Given the description of an element on the screen output the (x, y) to click on. 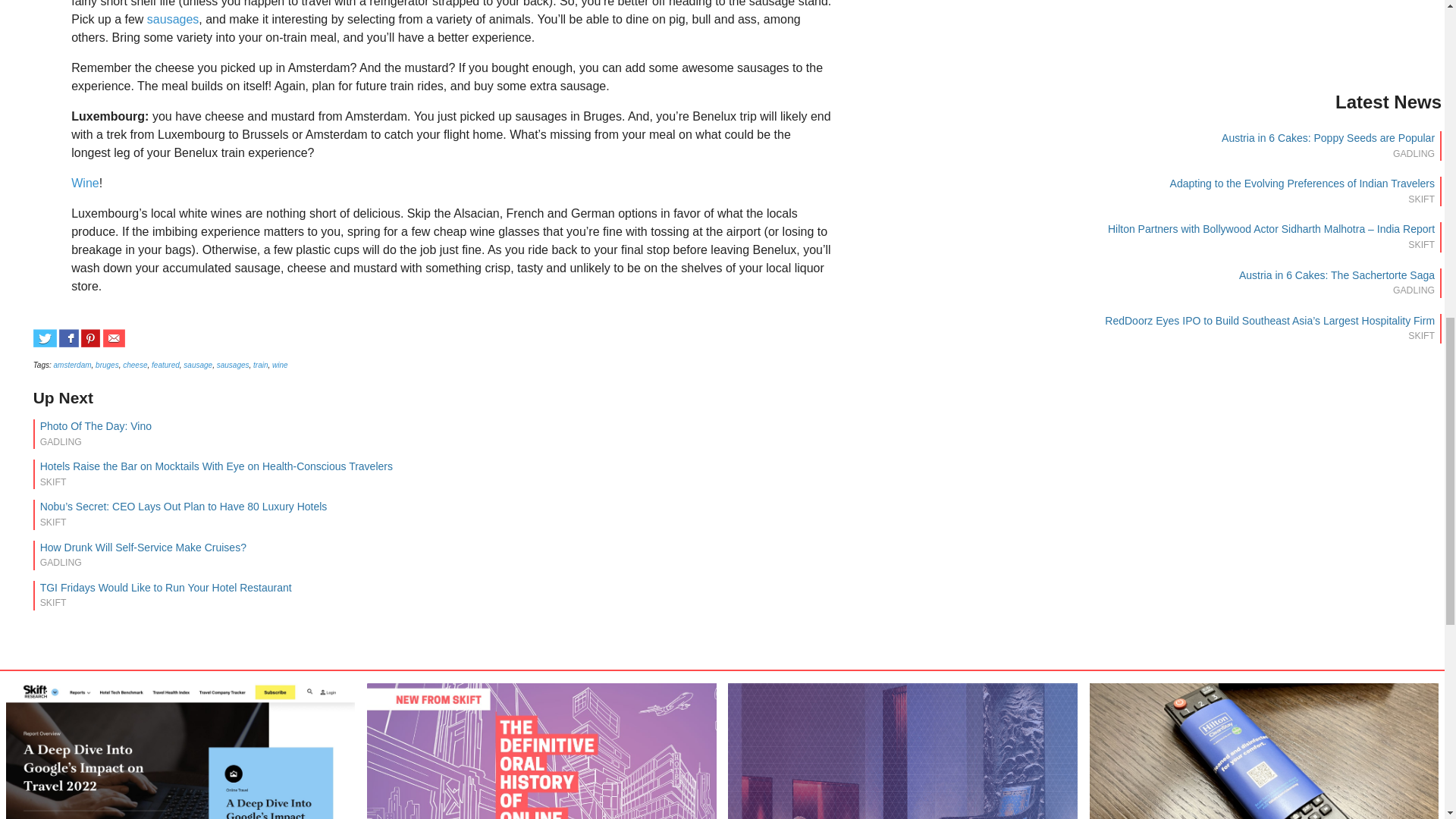
Share on Pinterest (90, 338)
Adapting to the Evolving Preferences of Indian Travelers (1302, 183)
Austria in 6 Cakes: Poppy Seeds are Popular (1327, 137)
Share on Facebook (68, 338)
Austria in 6 Cakes: The Sachertorte Saga (1336, 275)
Share on Twitter (44, 338)
Share via email (114, 338)
